Given the description of an element on the screen output the (x, y) to click on. 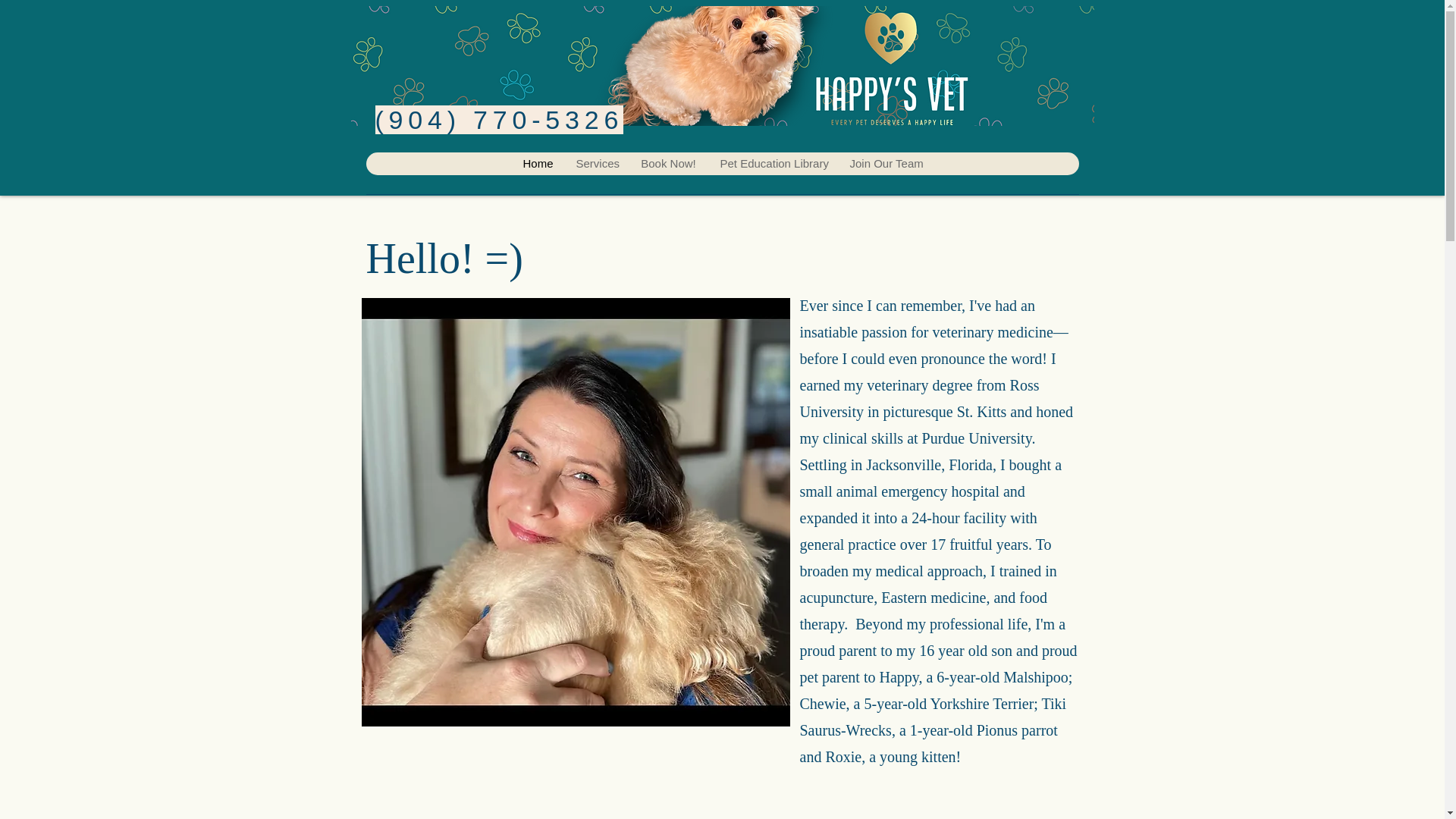
Join Our Team (885, 163)
Untitled design.png (721, 65)
Home (537, 163)
Book Now! (667, 163)
Pet Education Library (772, 163)
Services (596, 163)
